Given the description of an element on the screen output the (x, y) to click on. 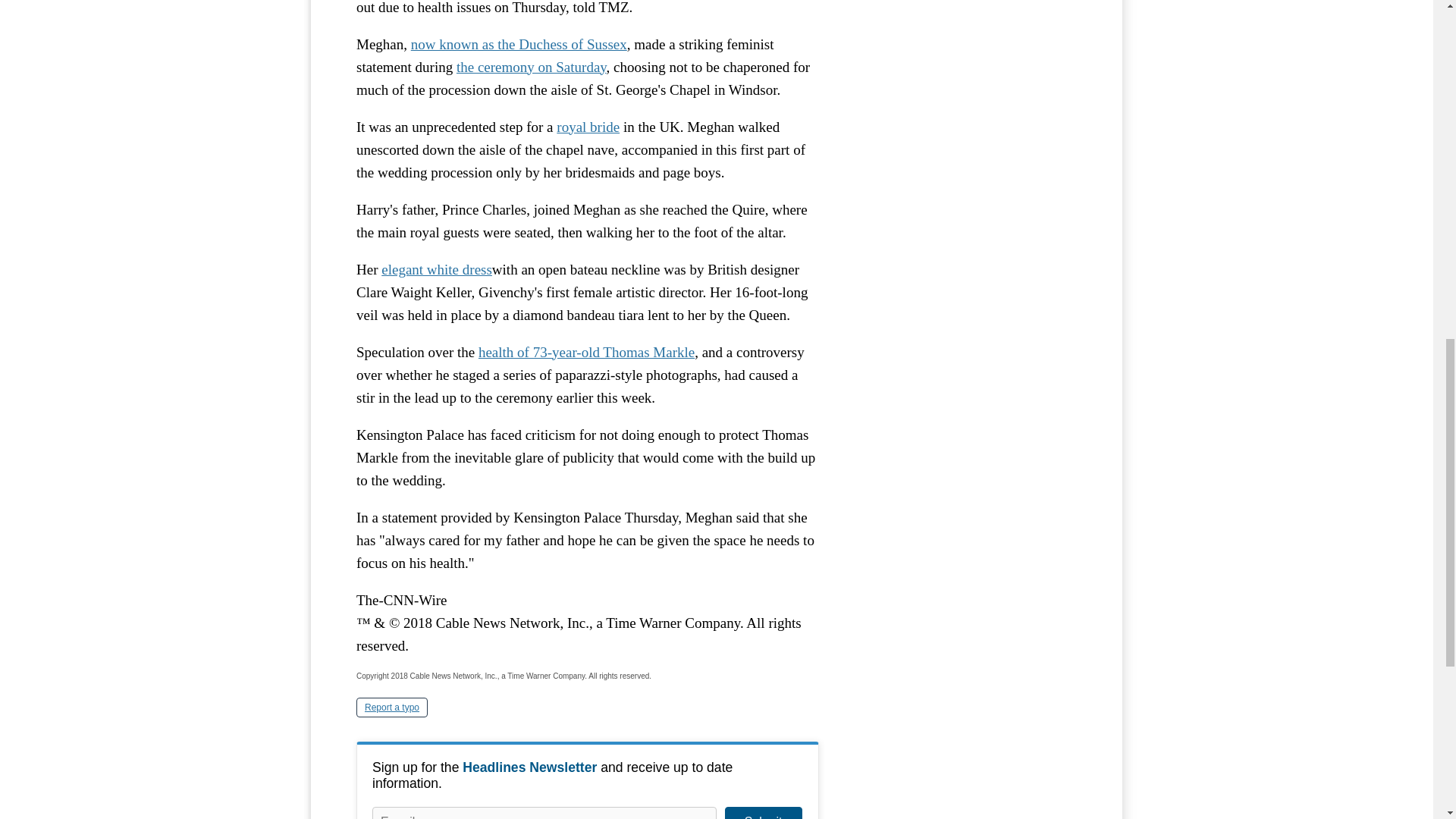
Submit (763, 812)
